Given the description of an element on the screen output the (x, y) to click on. 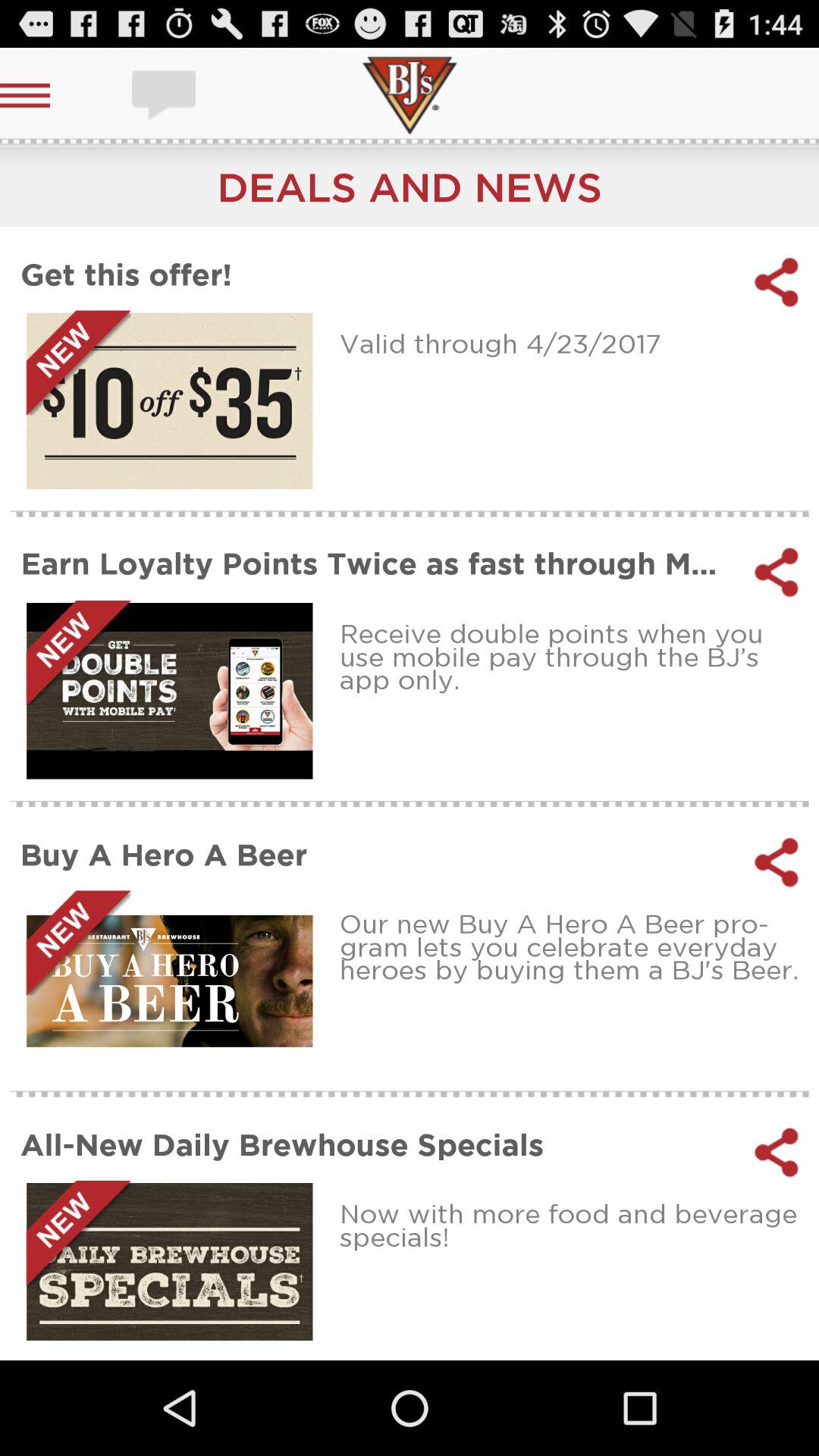
jump until the now with more (573, 1225)
